Given the description of an element on the screen output the (x, y) to click on. 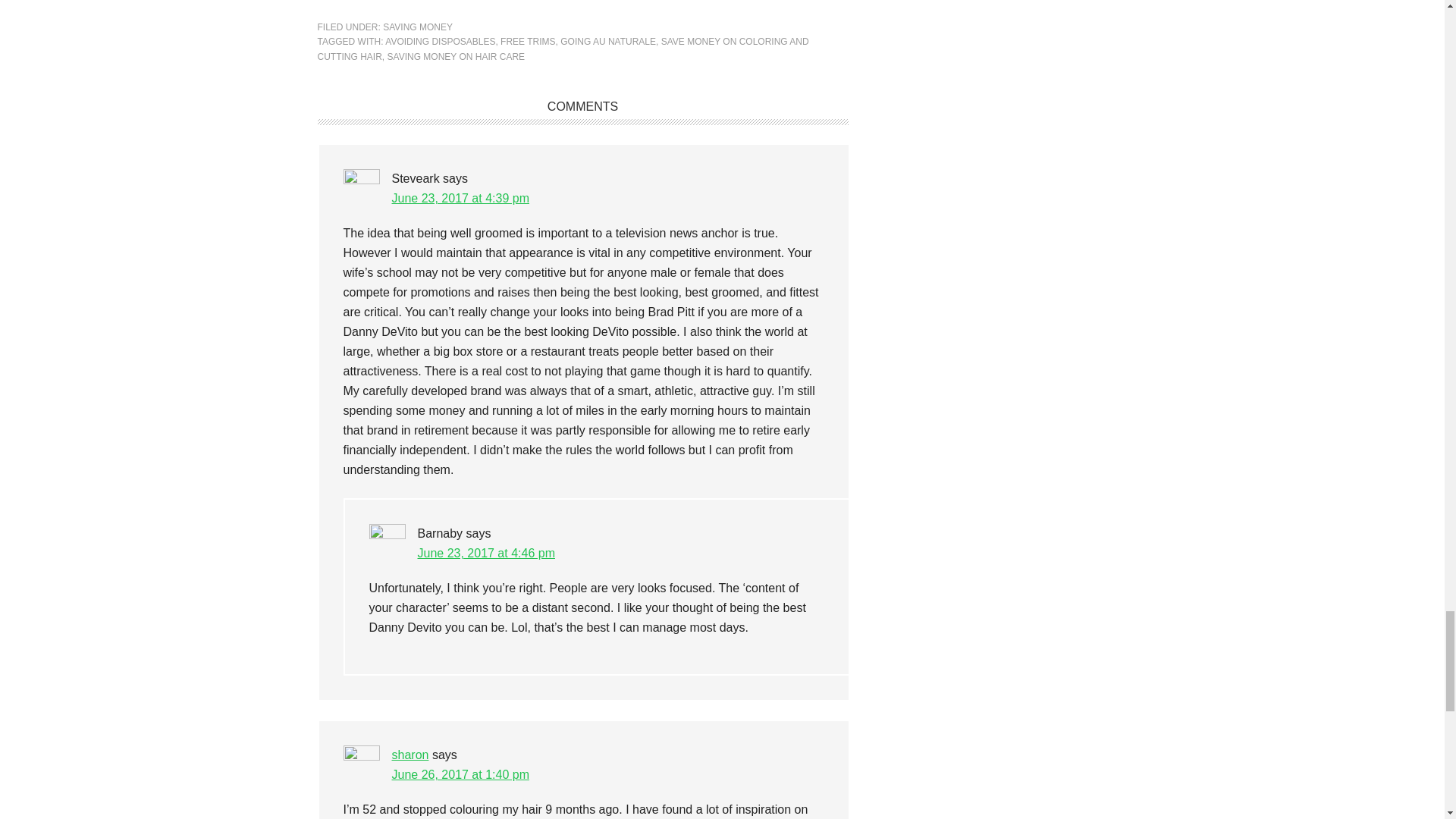
SAVING MONEY (417, 27)
sharon (409, 754)
June 26, 2017 at 1:40 pm (459, 774)
AVOIDING DISPOSABLES (440, 41)
June 23, 2017 at 4:46 pm (485, 553)
GOING AU NATURALE (608, 41)
SAVE MONEY ON COLORING AND CUTTING HAIR (562, 49)
SAVING MONEY ON HAIR CARE (456, 56)
FREE TRIMS (527, 41)
June 23, 2017 at 4:39 pm (459, 197)
